Given the description of an element on the screen output the (x, y) to click on. 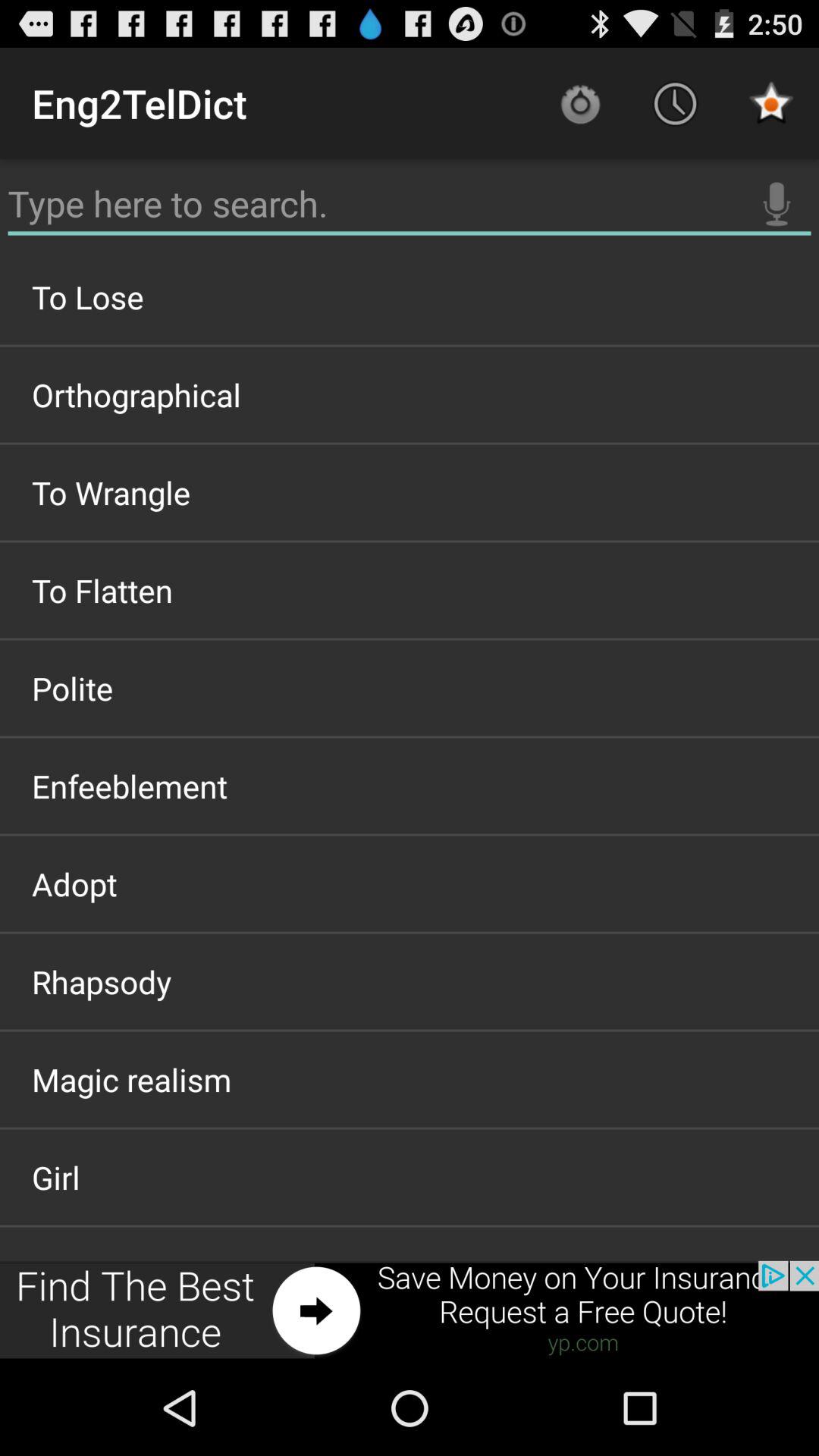
advertisements place (409, 1310)
